Given the description of an element on the screen output the (x, y) to click on. 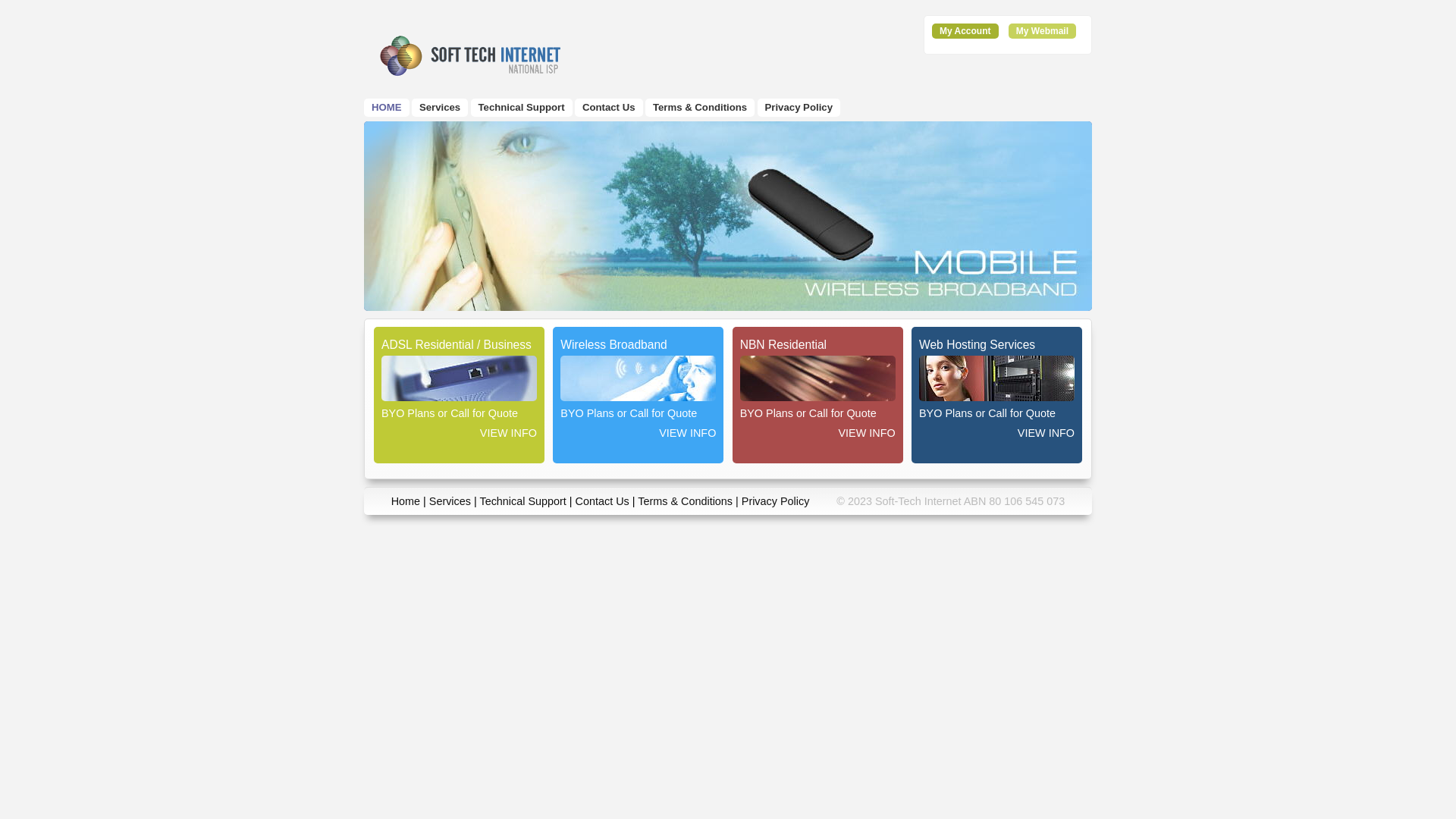
My Account Element type: text (965, 30)
Technical Support Element type: text (522, 501)
VIEW INFO Element type: text (817, 429)
VIEW INFO Element type: text (458, 429)
Contact Us Element type: text (608, 106)
Contact Us Element type: text (602, 501)
Terms & Conditions | Element type: text (689, 501)
VIEW INFO Element type: text (996, 429)
Privacy Policy Element type: text (775, 501)
HOME Element type: text (386, 106)
Terms & Conditions Element type: text (699, 106)
Services Element type: text (439, 106)
Wireless Broadband Element type: hover (728, 215)
Home Element type: text (405, 501)
VIEW INFO Element type: text (637, 429)
Services Element type: text (449, 501)
Technical Support Element type: text (521, 106)
Privacy Policy Element type: text (798, 106)
Soft-Tech Internet Element type: hover (474, 54)
My Webmail Element type: text (1042, 30)
